Given the description of an element on the screen output the (x, y) to click on. 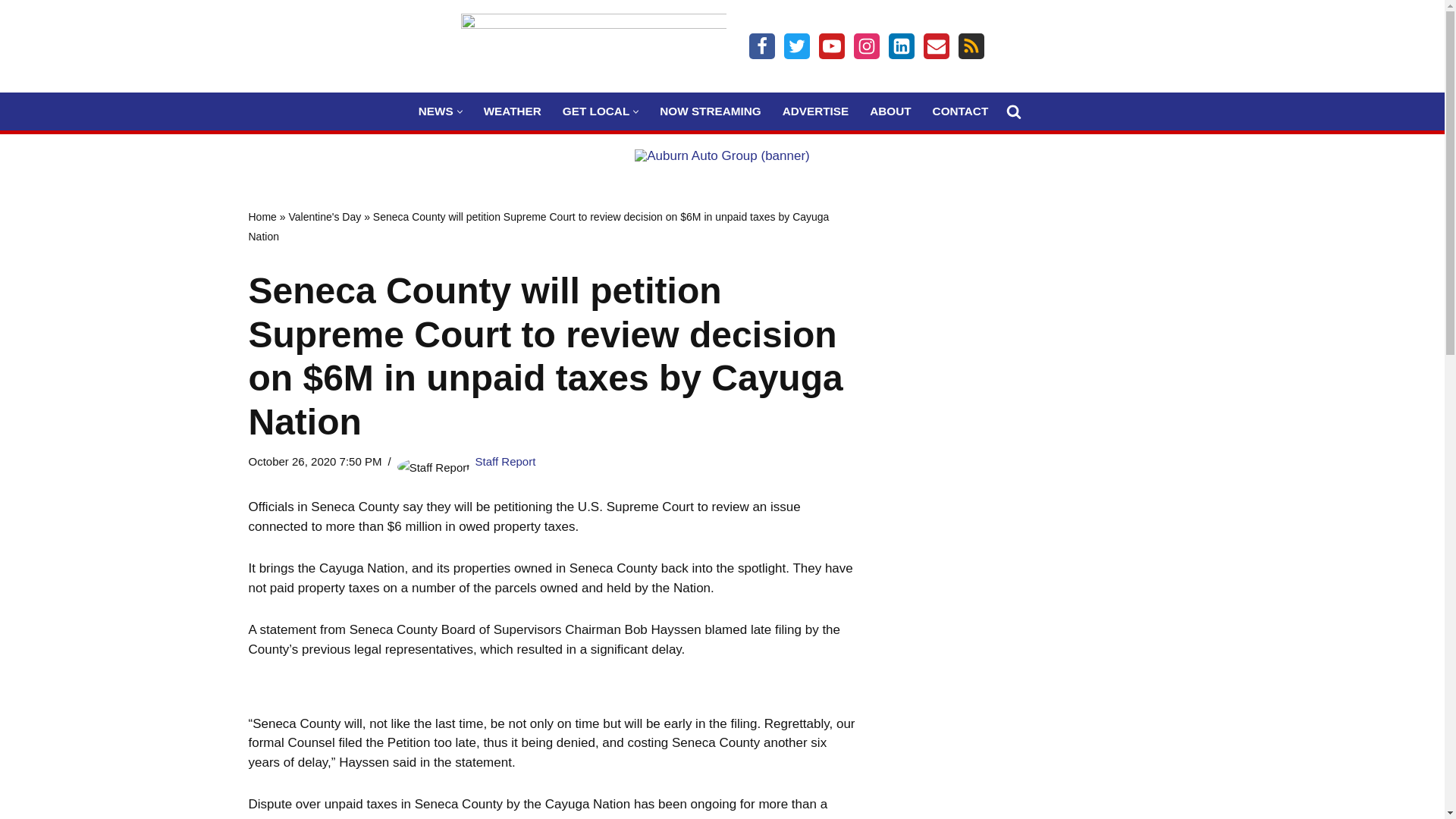
CONTACT (960, 111)
GET LOCAL (595, 111)
WEATHER (512, 111)
NOW STREAMING (709, 111)
Skip to content (11, 31)
NEWS (435, 111)
Feed (971, 45)
Instagram (866, 45)
Twitter (796, 45)
ADVERTISE (815, 111)
Email Us (936, 45)
Facebook (761, 45)
ABOUT (890, 111)
Posts by Staff Report (505, 461)
Youtube (831, 45)
